Given the description of an element on the screen output the (x, y) to click on. 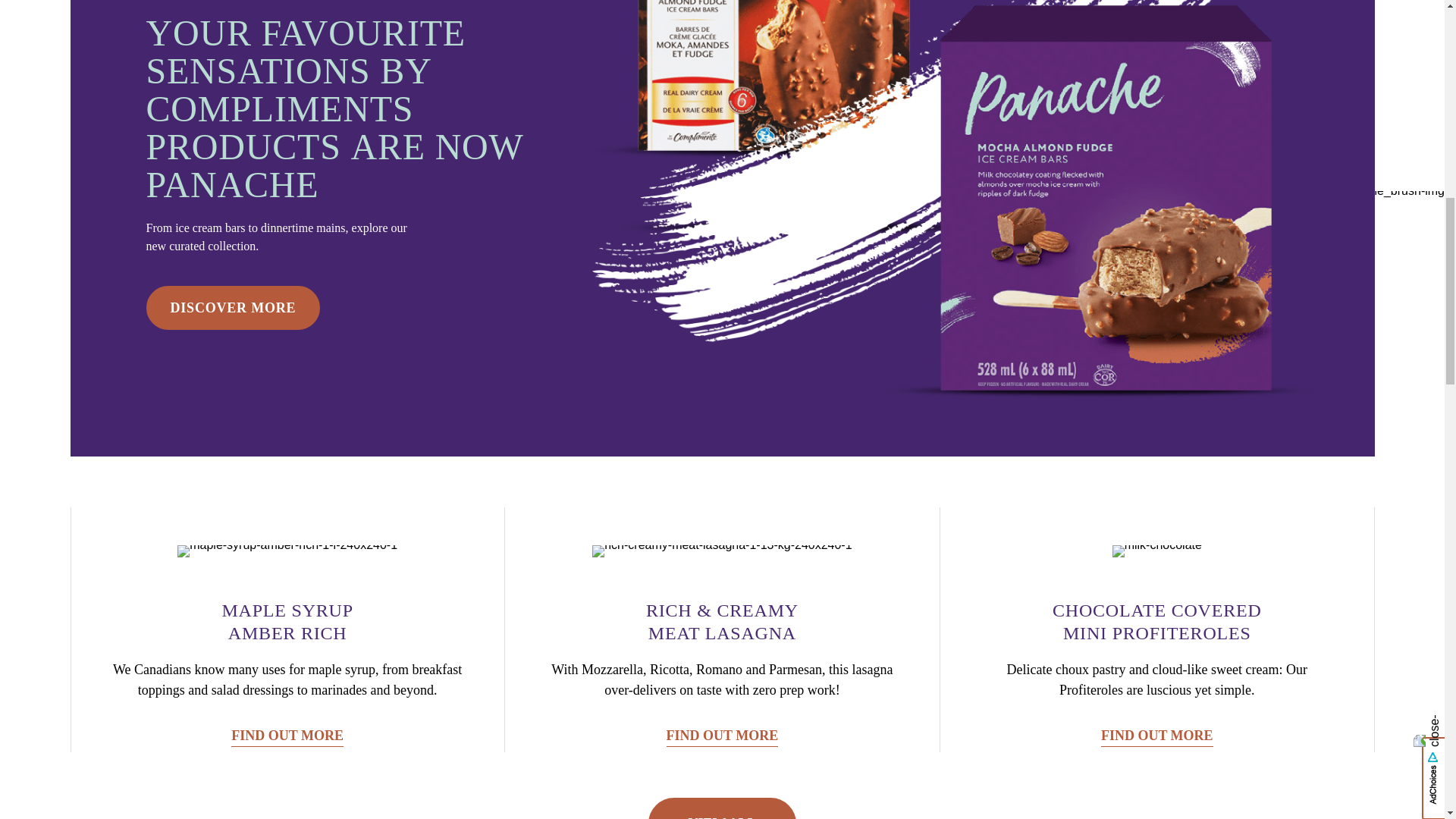
maple-syrup-amber-rich-1-l-240x240-1 (287, 551)
milk-chocolate (1157, 551)
rich-creamy-meat-lasagna-1-13-kg-240x240-1 (721, 551)
